Given the description of an element on the screen output the (x, y) to click on. 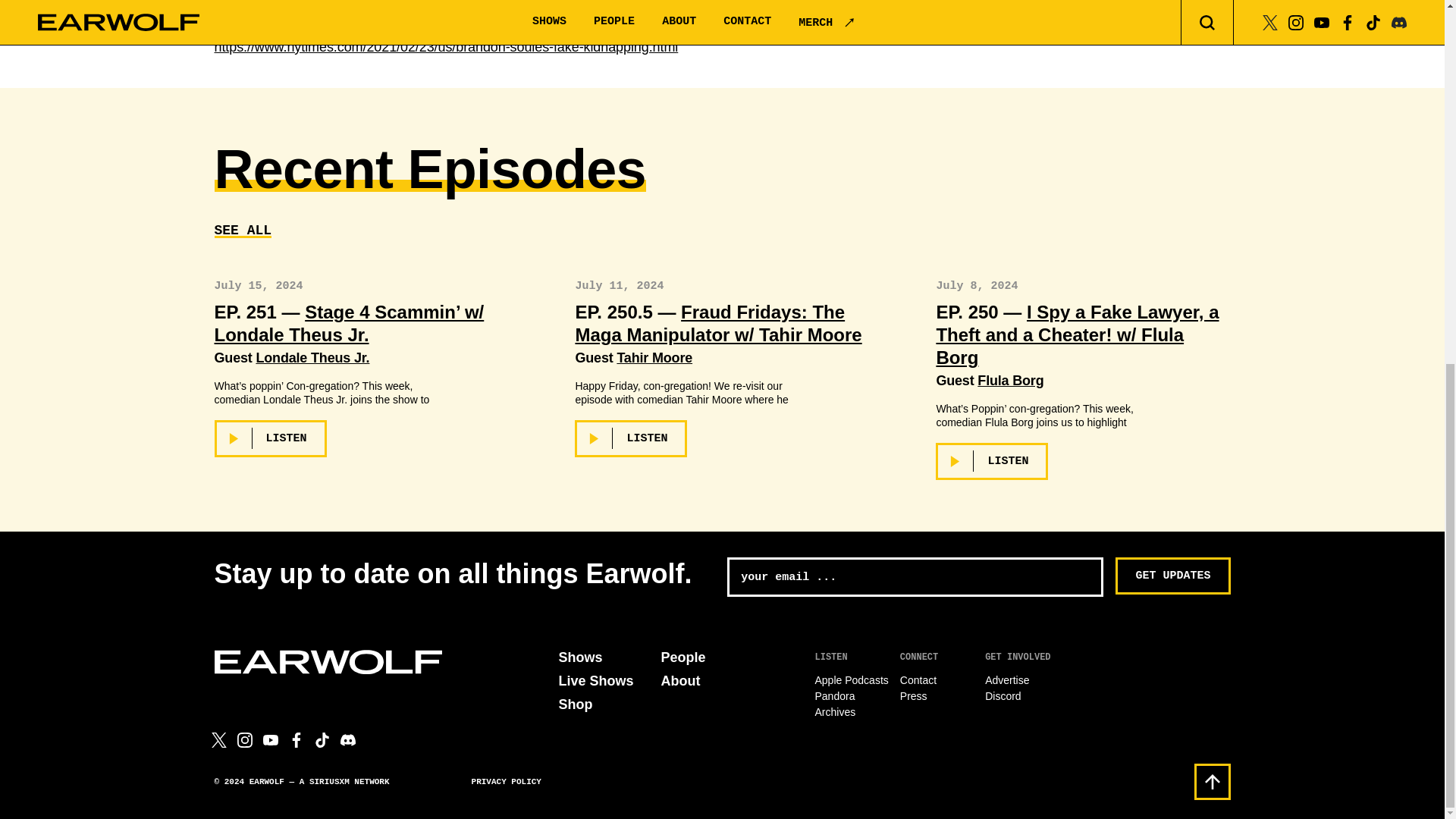
SEE ALL (242, 230)
Earwolf (327, 662)
Get Updates (1172, 575)
